Given the description of an element on the screen output the (x, y) to click on. 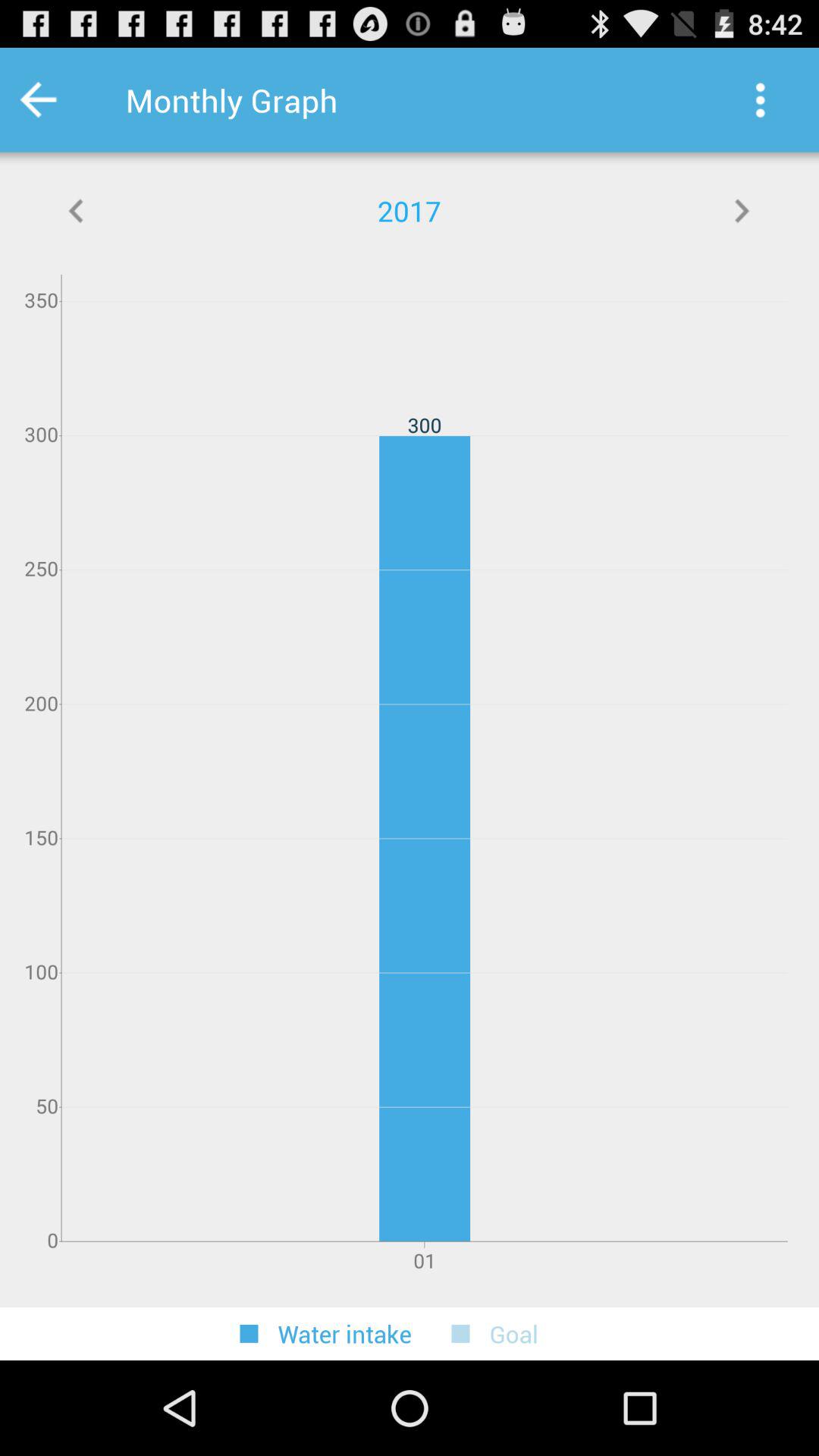
launch the app next to monthly graph (760, 100)
